Given the description of an element on the screen output the (x, y) to click on. 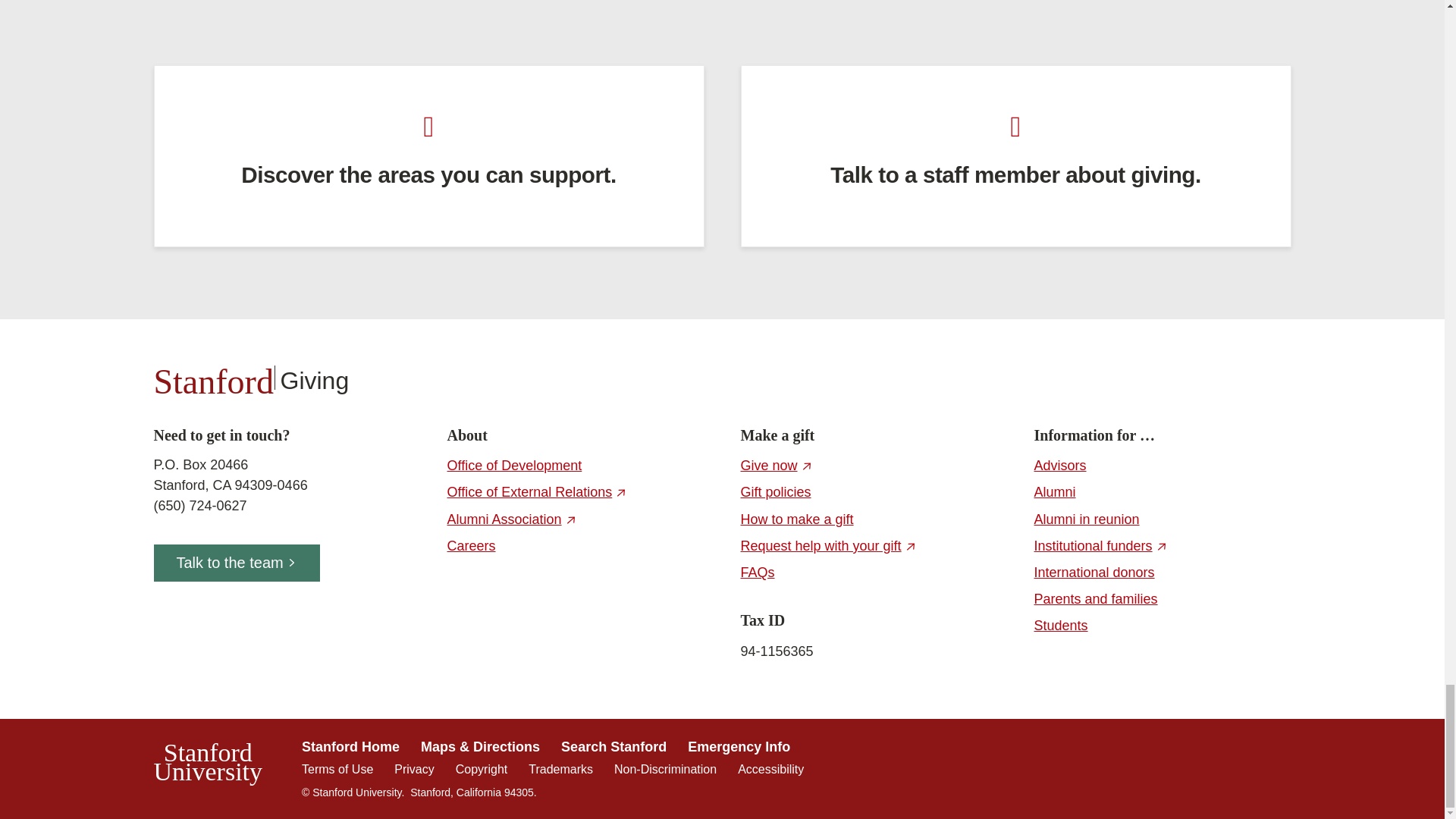
Terms of use for sites (336, 768)
Report alleged copyright infringement (480, 768)
Report web accessibility issues (770, 768)
Ownership and use of Stanford trademarks and images (560, 768)
Privacy and cookie policy (413, 768)
Non-discrimination policy (665, 768)
